Given the description of an element on the screen output the (x, y) to click on. 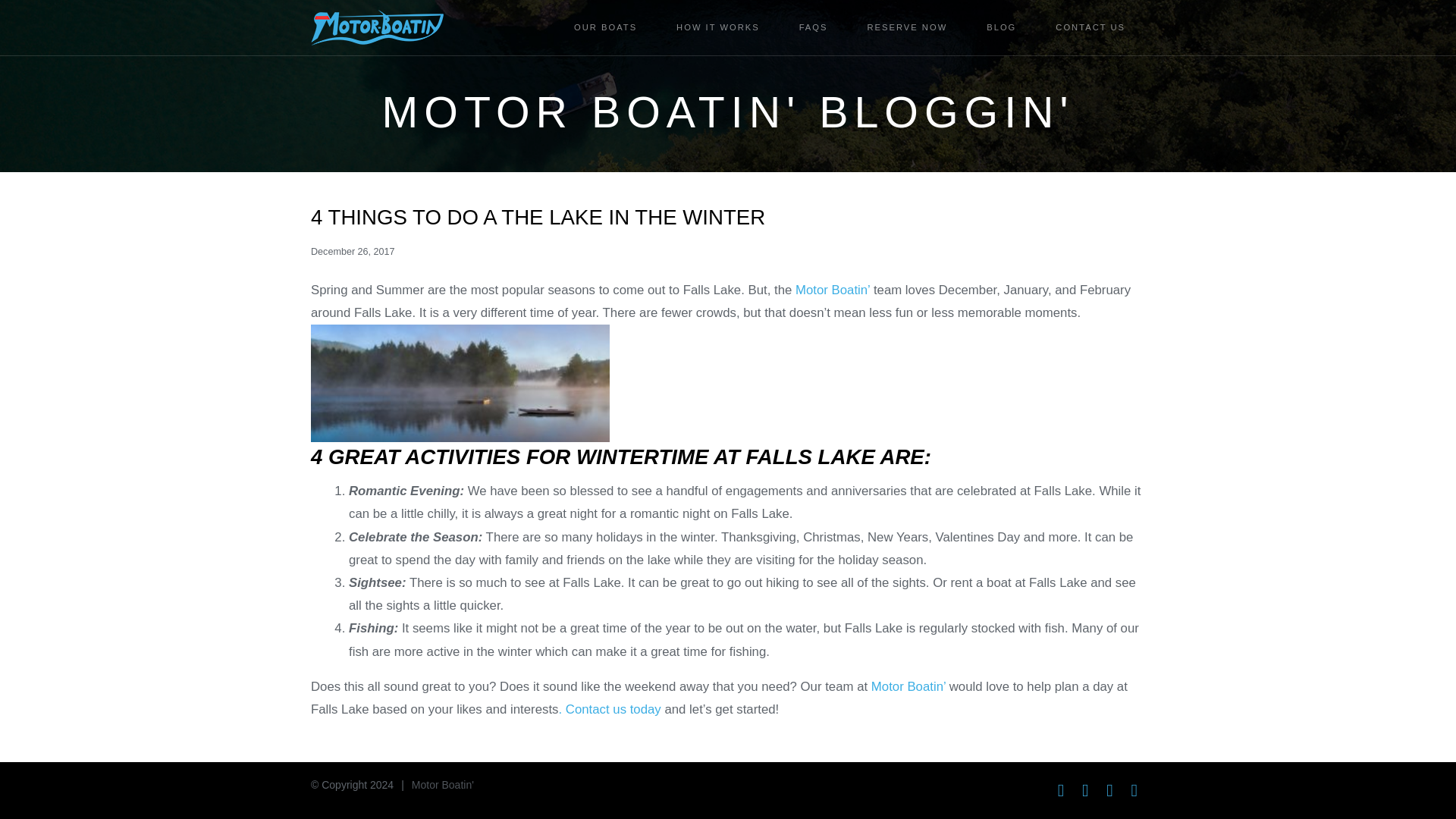
OUR BOATS (605, 27)
BLOG (1000, 27)
Motor Boatin' (443, 784)
RESERVE NOW (907, 27)
. Contact us today (609, 708)
CONTACT US (1089, 27)
FAQS (812, 27)
HOW IT WORKS (717, 27)
